Given the description of an element on the screen output the (x, y) to click on. 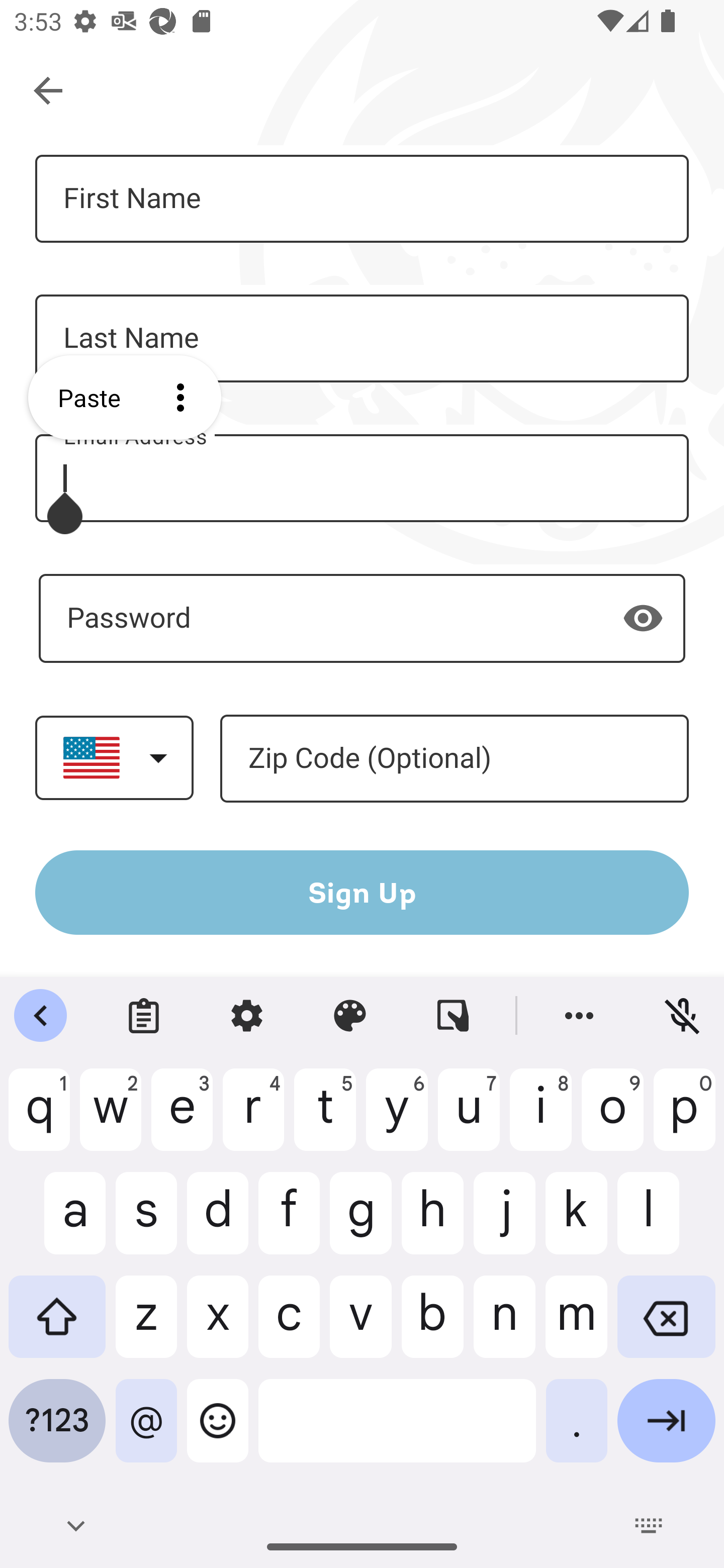
Navigate up (49, 91)
First Name - Required (361, 199)
Last Name - Required (361, 338)
Email Address - Required (361, 478)
- Required (361, 618)
Show password (642, 617)
Zip Code – Optional (454, 758)
Select a country. United States selected. (114, 757)
Sign Up (361, 891)
